Given the description of an element on the screen output the (x, y) to click on. 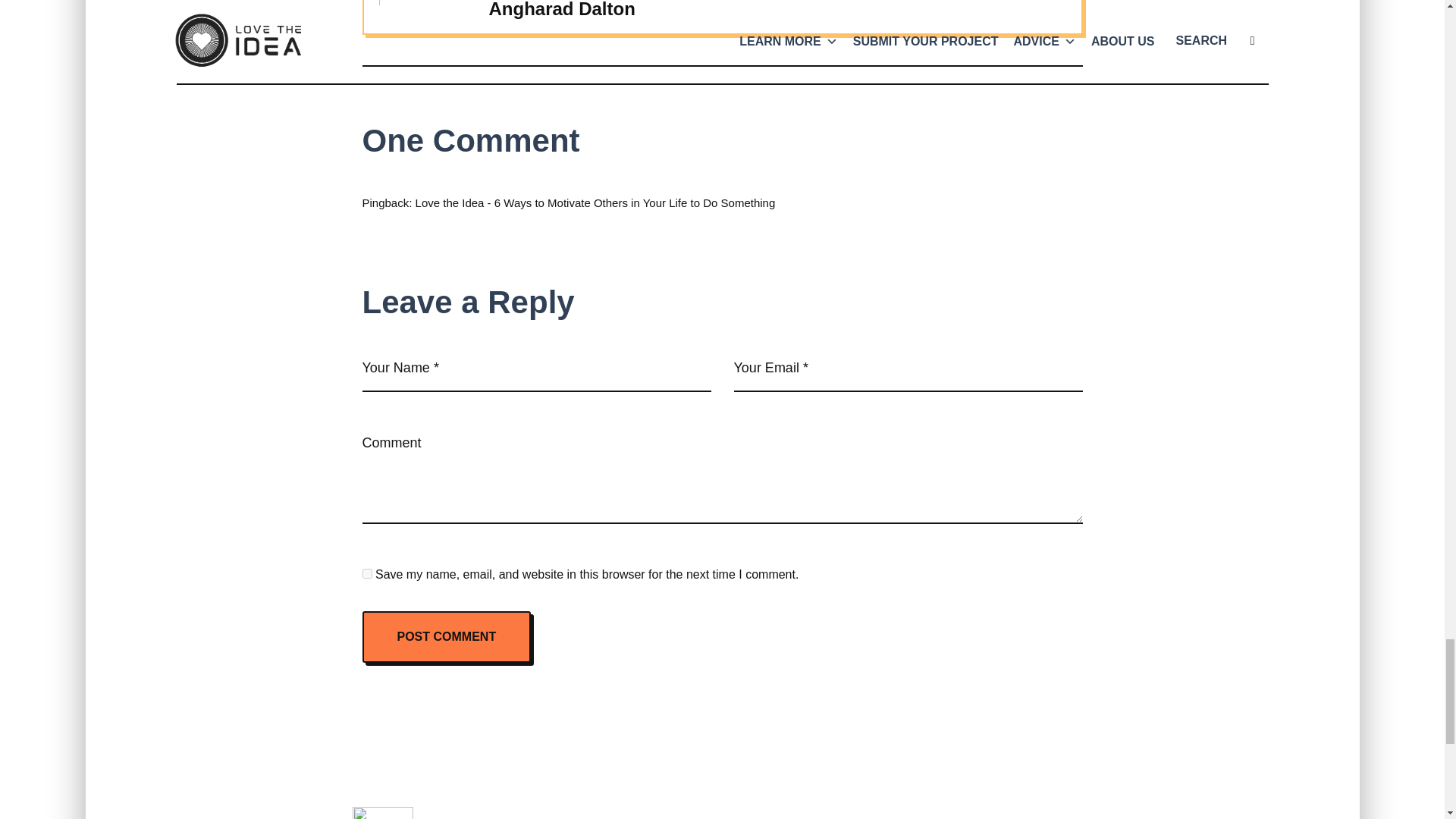
Post Comment (446, 636)
Post Comment (446, 636)
yes (367, 573)
